Given the description of an element on the screen output the (x, y) to click on. 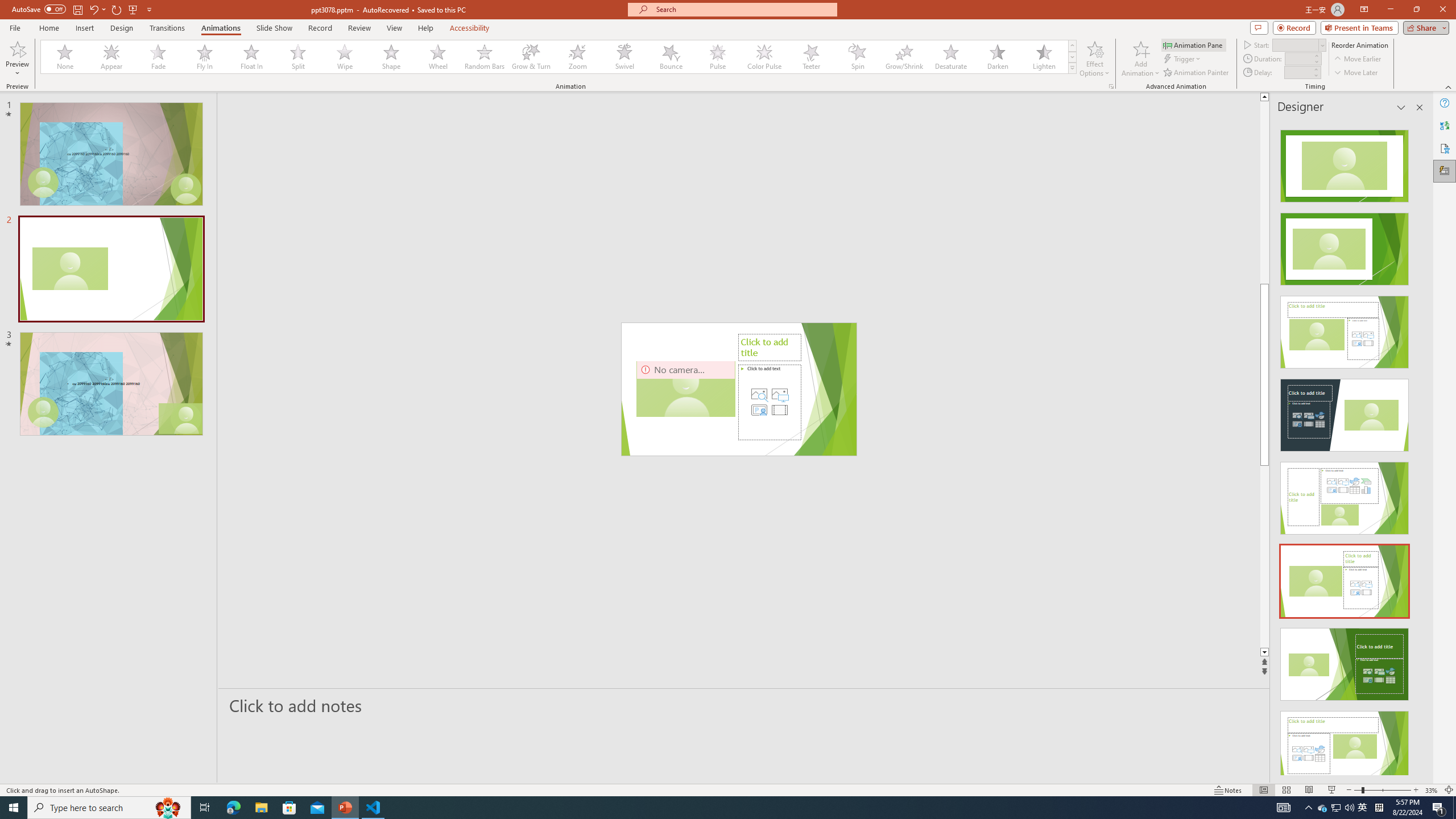
Animation Pane (1193, 44)
Animation Painter (1196, 72)
Desaturate (950, 56)
Float In (251, 56)
Move Earlier (1357, 58)
More Options... (1110, 85)
AutomationID: AnimationGallery (558, 56)
Lighten (1043, 56)
Animation Delay (1297, 72)
Insert Cameo (758, 409)
